Given the description of an element on the screen output the (x, y) to click on. 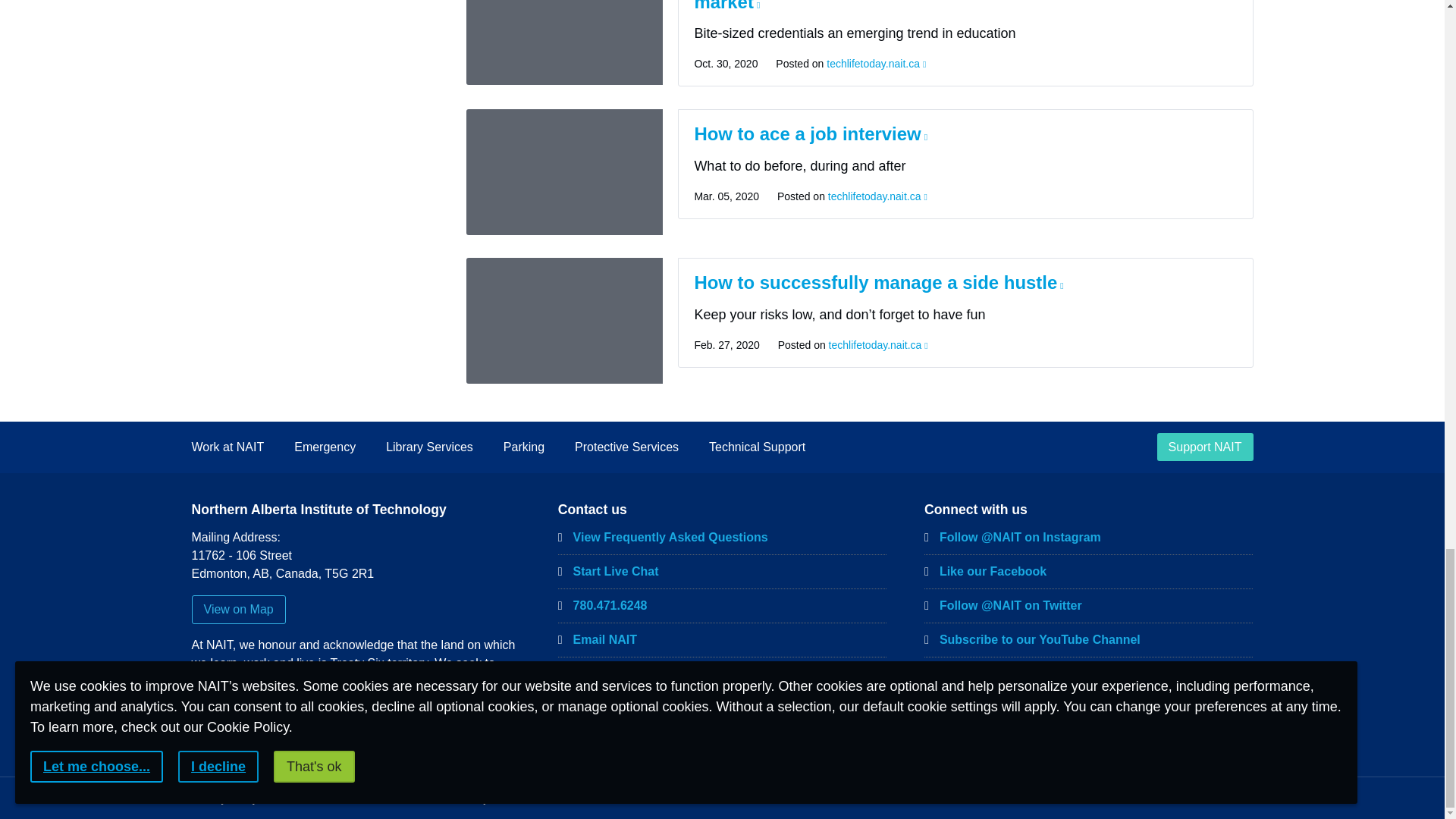
Bite-sized credentials an emerging trend in education (563, 42)
What to do before, during and after (563, 171)
